Given the description of an element on the screen output the (x, y) to click on. 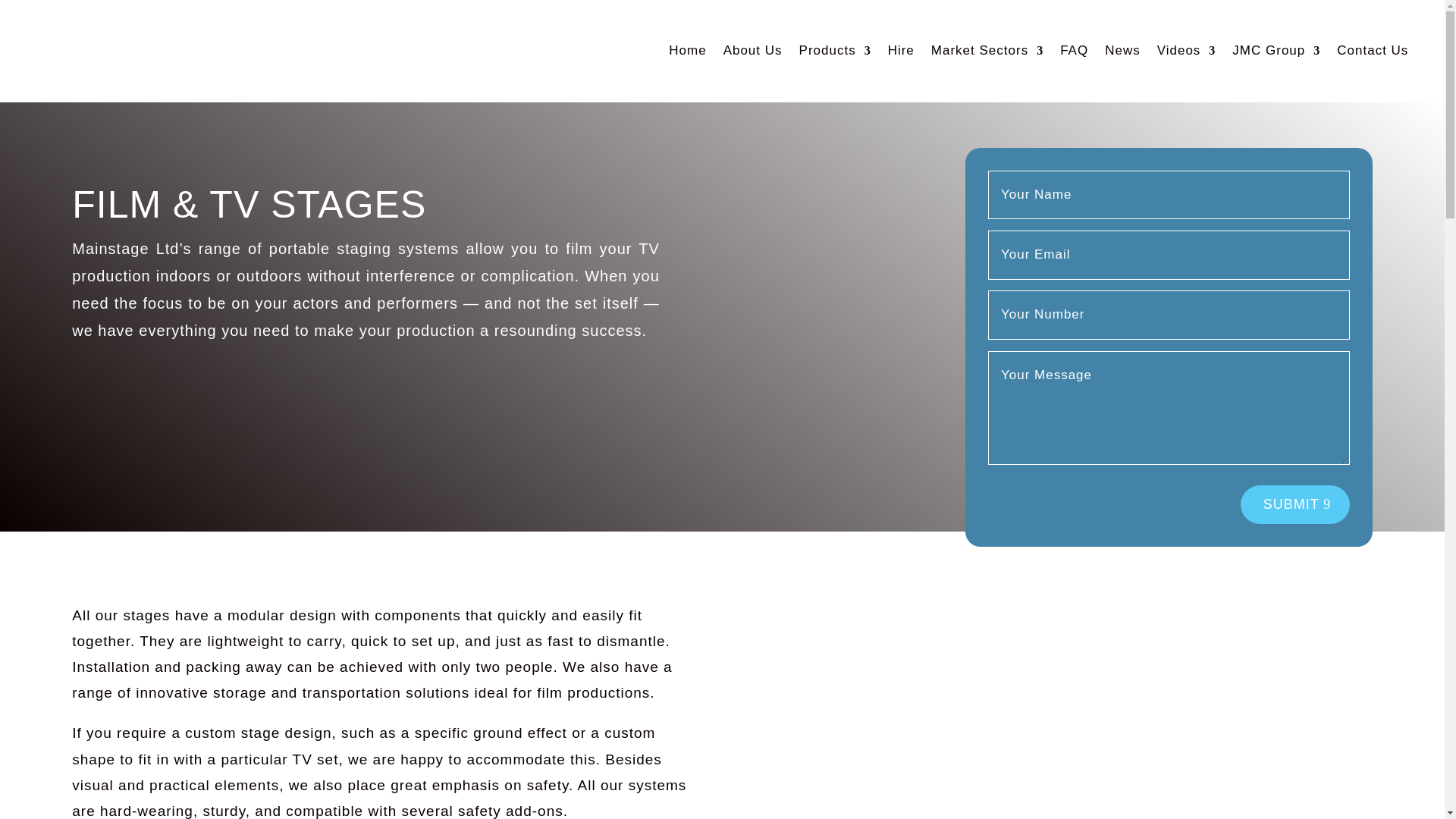
Products (834, 50)
Only numbers allowed. (1168, 314)
About Us (753, 50)
Market Sectors (987, 50)
